Given the description of an element on the screen output the (x, y) to click on. 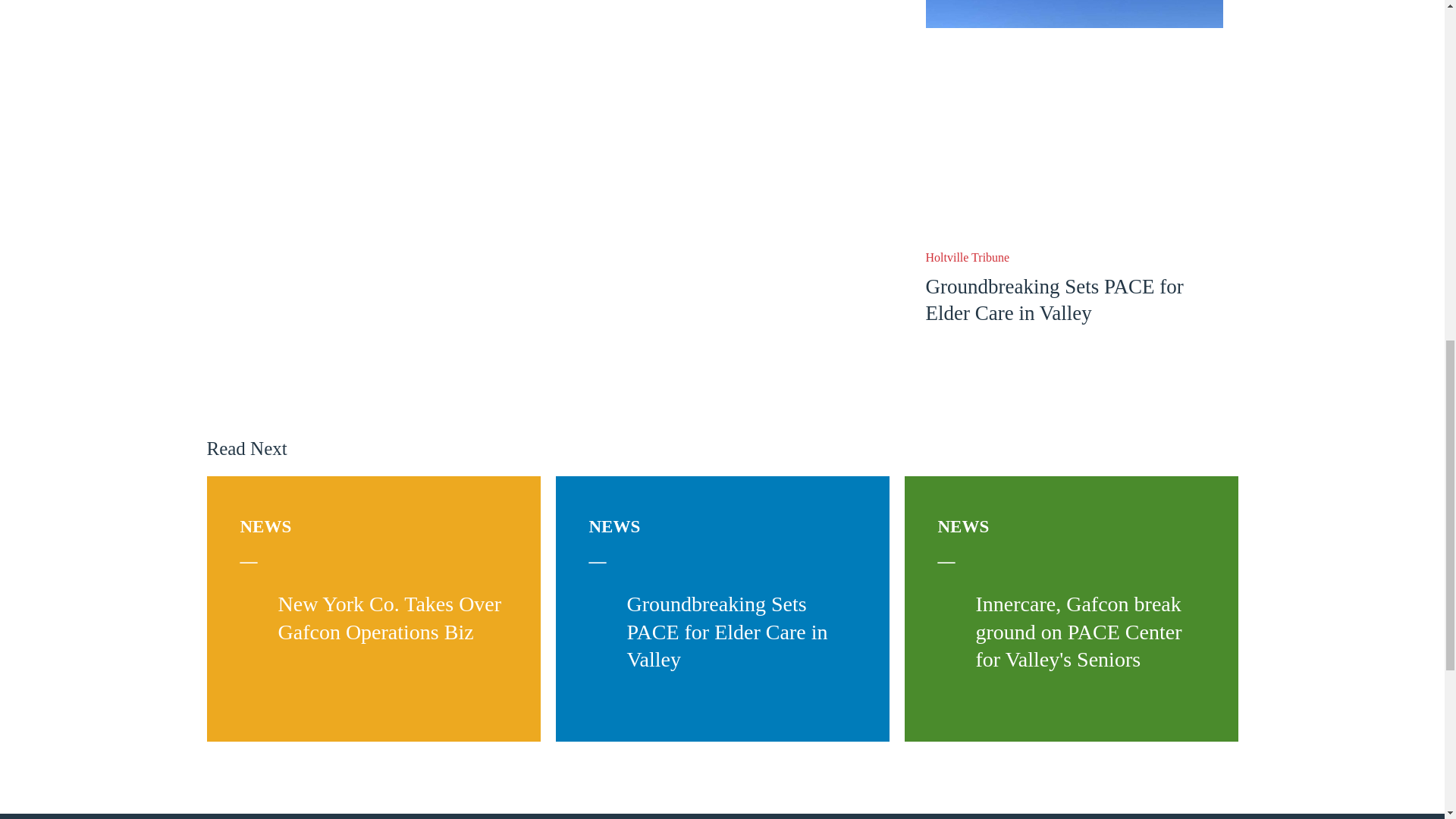
Groundbreaking Sets PACE for Elder Care in Valley (726, 631)
Groundbreaking Sets PACE for Elder Care in Valley (1053, 299)
New York Co. Takes Over Gafcon Operations Biz (389, 617)
